Given the description of an element on the screen output the (x, y) to click on. 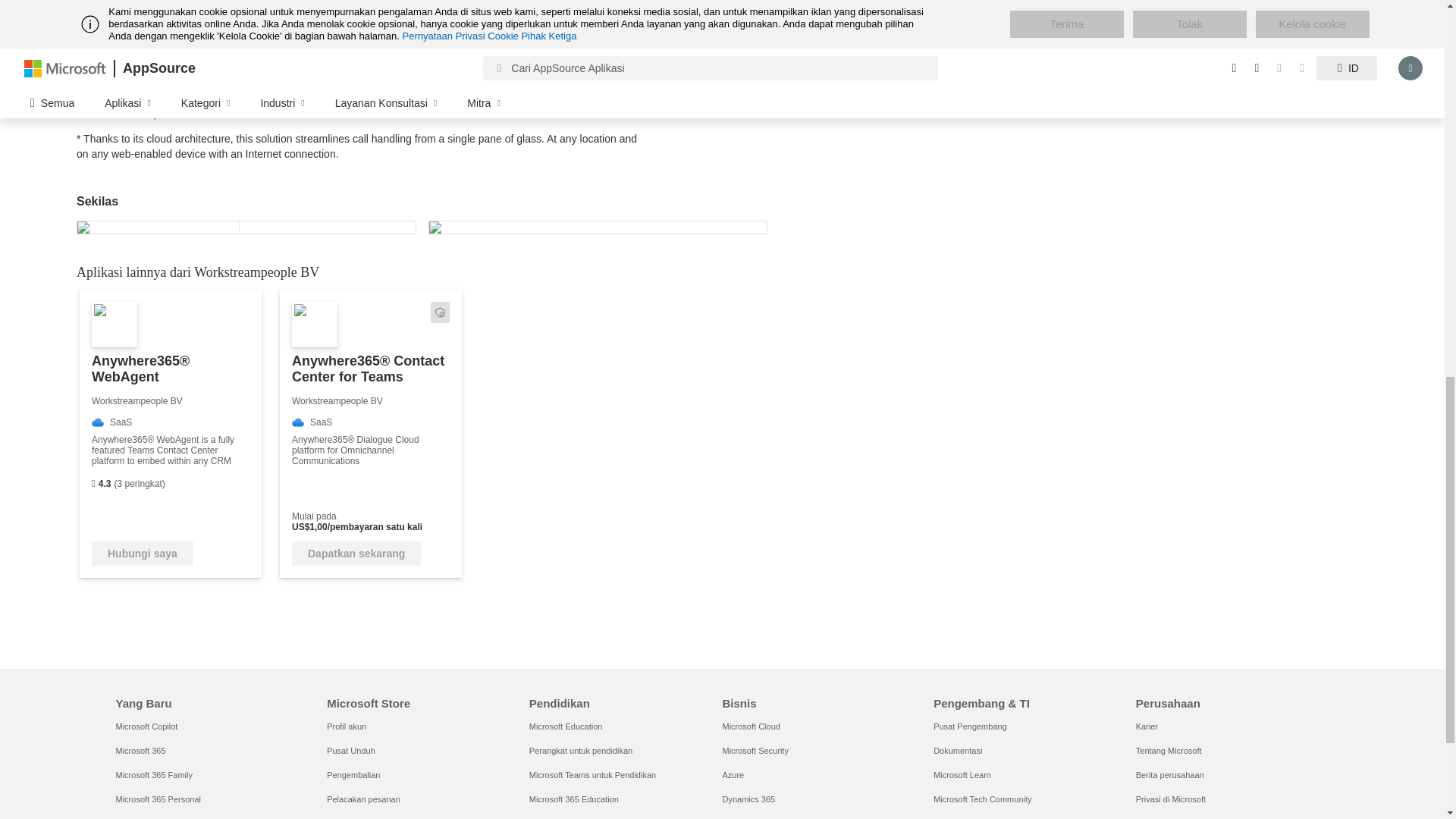
Microsoft Copilot (146, 726)
Dapatkan sekarang (356, 553)
Microsoft 365 Family (153, 774)
Microsoft 365 Personal (157, 798)
Hubungi saya (142, 553)
Bersertifikasi Microsoft 365 (439, 312)
Microsoft 365 (140, 750)
